Given the description of an element on the screen output the (x, y) to click on. 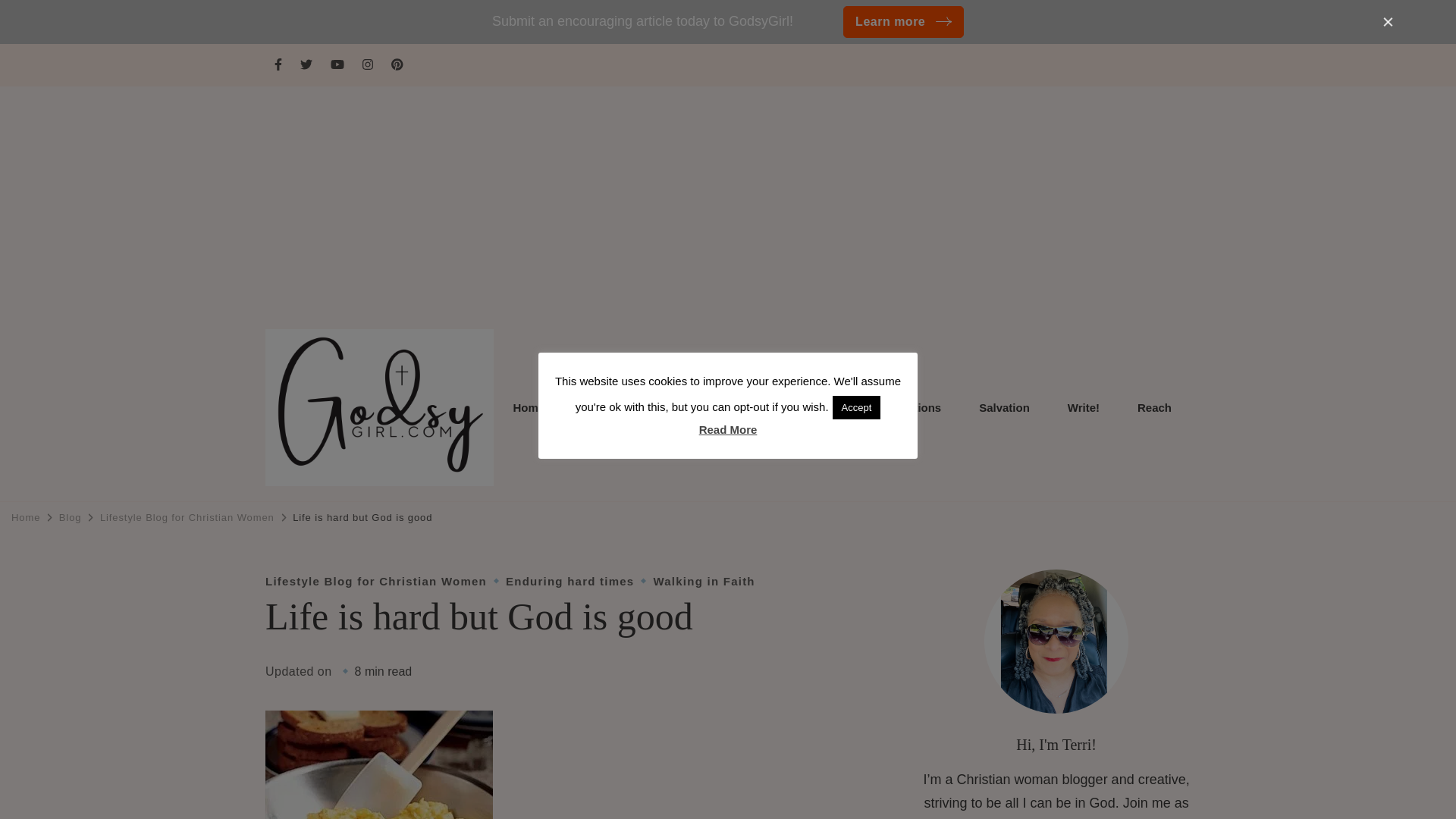
Write! (1083, 407)
Ideations (915, 407)
Blog (665, 407)
About (598, 407)
Subscribe (825, 407)
Podcast (737, 407)
Learn more (903, 21)
Home (528, 407)
Salvation (1003, 407)
Reach (1154, 407)
